Given the description of an element on the screen output the (x, y) to click on. 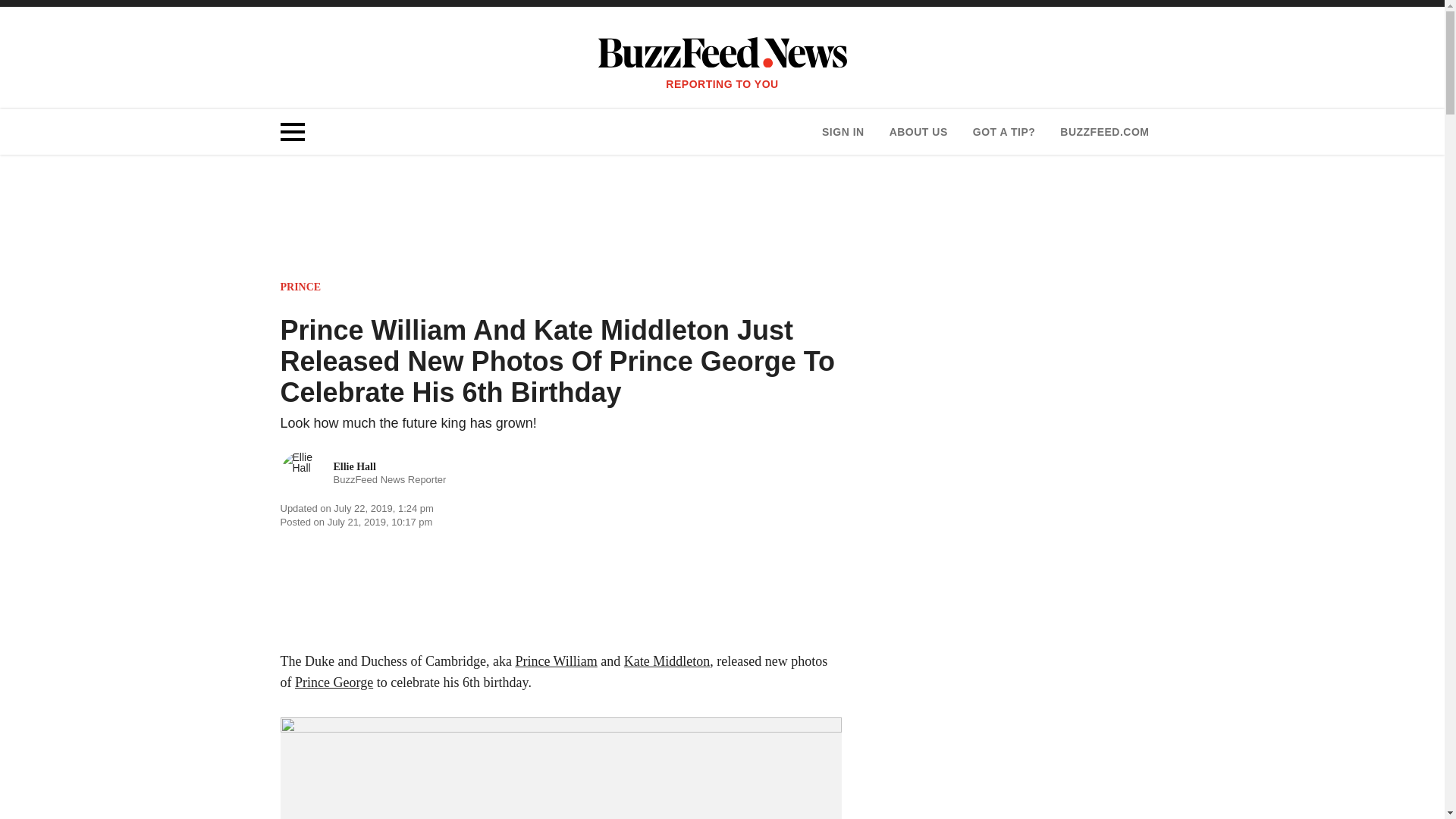
ABOUT US (917, 131)
Kate Middleton (667, 661)
SIGN IN (842, 131)
GOT A TIP? (1003, 131)
Prince William (555, 661)
Prince George (333, 682)
PRINCE (301, 286)
BUZZFEED.COM (363, 474)
